Given the description of an element on the screen output the (x, y) to click on. 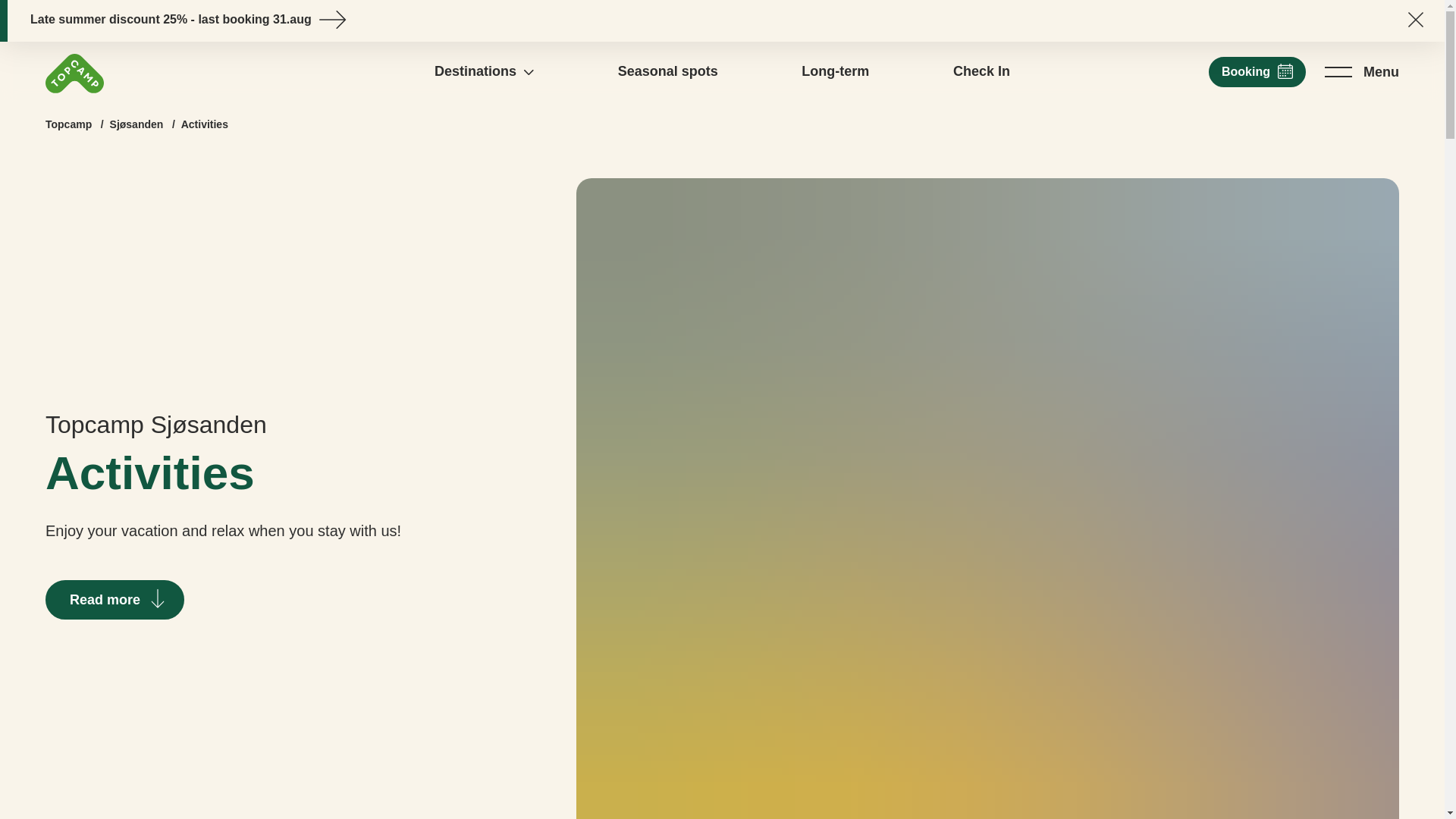
Seasonal spots (667, 71)
Menu (1361, 71)
Activities (204, 123)
Read more (114, 599)
Booking (1257, 71)
Destinations (483, 71)
Topcamp (68, 123)
Long-term (835, 71)
Check In (981, 71)
